Given the description of an element on the screen output the (x, y) to click on. 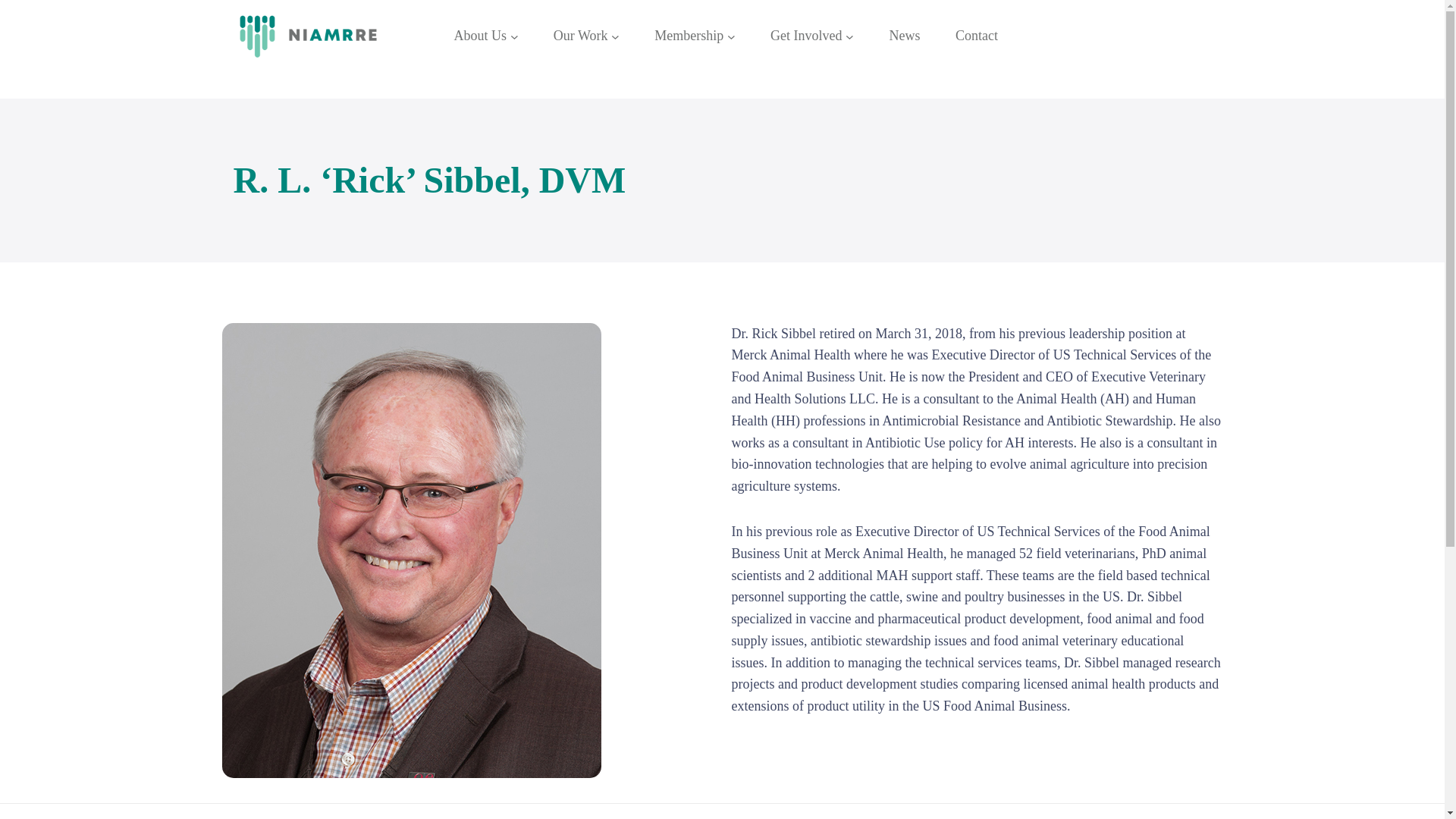
News (904, 36)
Contact (976, 36)
Membership (688, 36)
Our Work (580, 36)
About Us (479, 36)
Get Involved (805, 36)
